Given the description of an element on the screen output the (x, y) to click on. 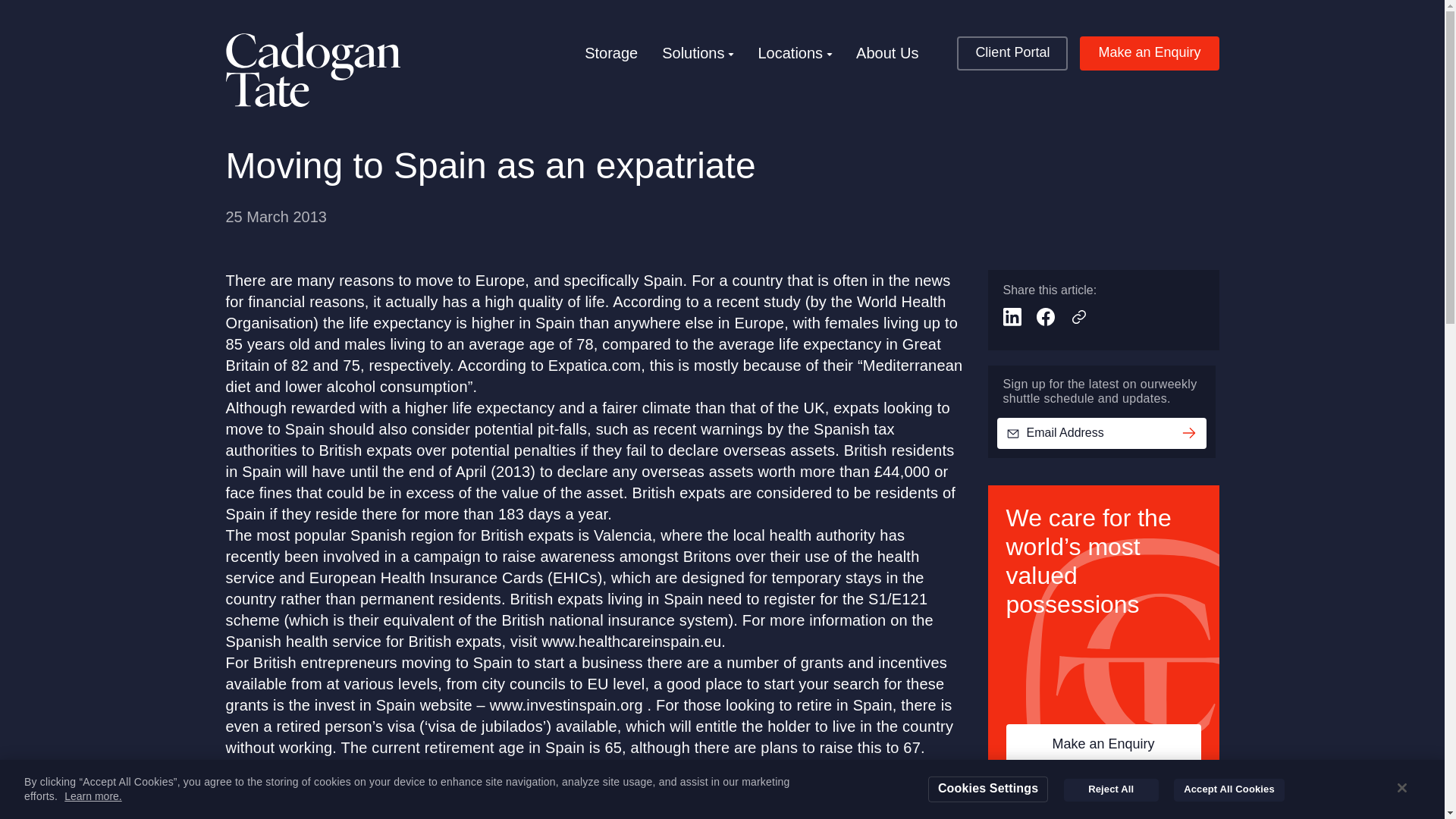
moving to Spain (340, 768)
Make an Enquiry (1102, 743)
international removals (595, 768)
Make an Enquiry (1149, 53)
About Us (887, 53)
Storage (611, 53)
